Given the description of an element on the screen output the (x, y) to click on. 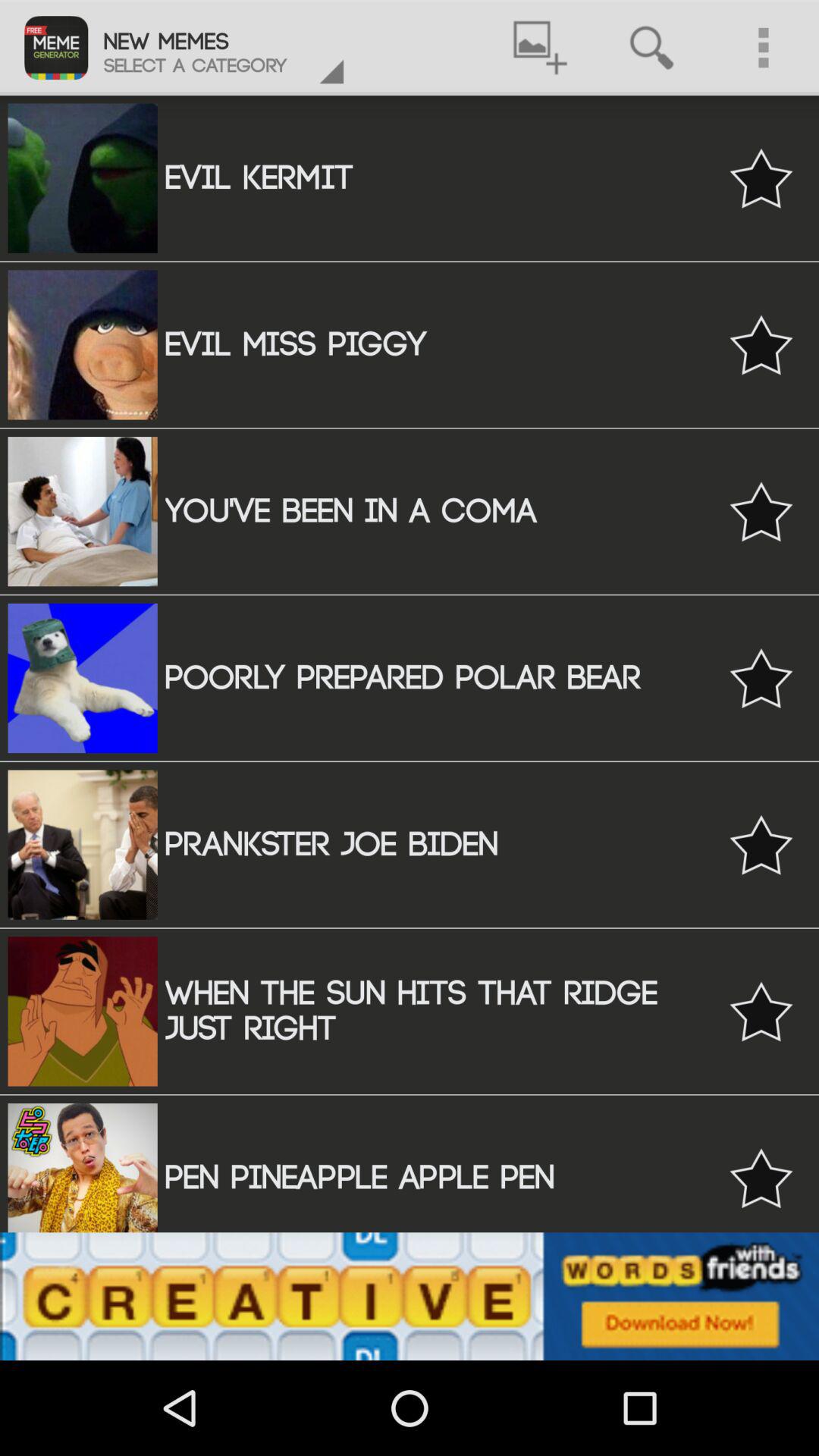
star button (761, 1011)
